Given the description of an element on the screen output the (x, y) to click on. 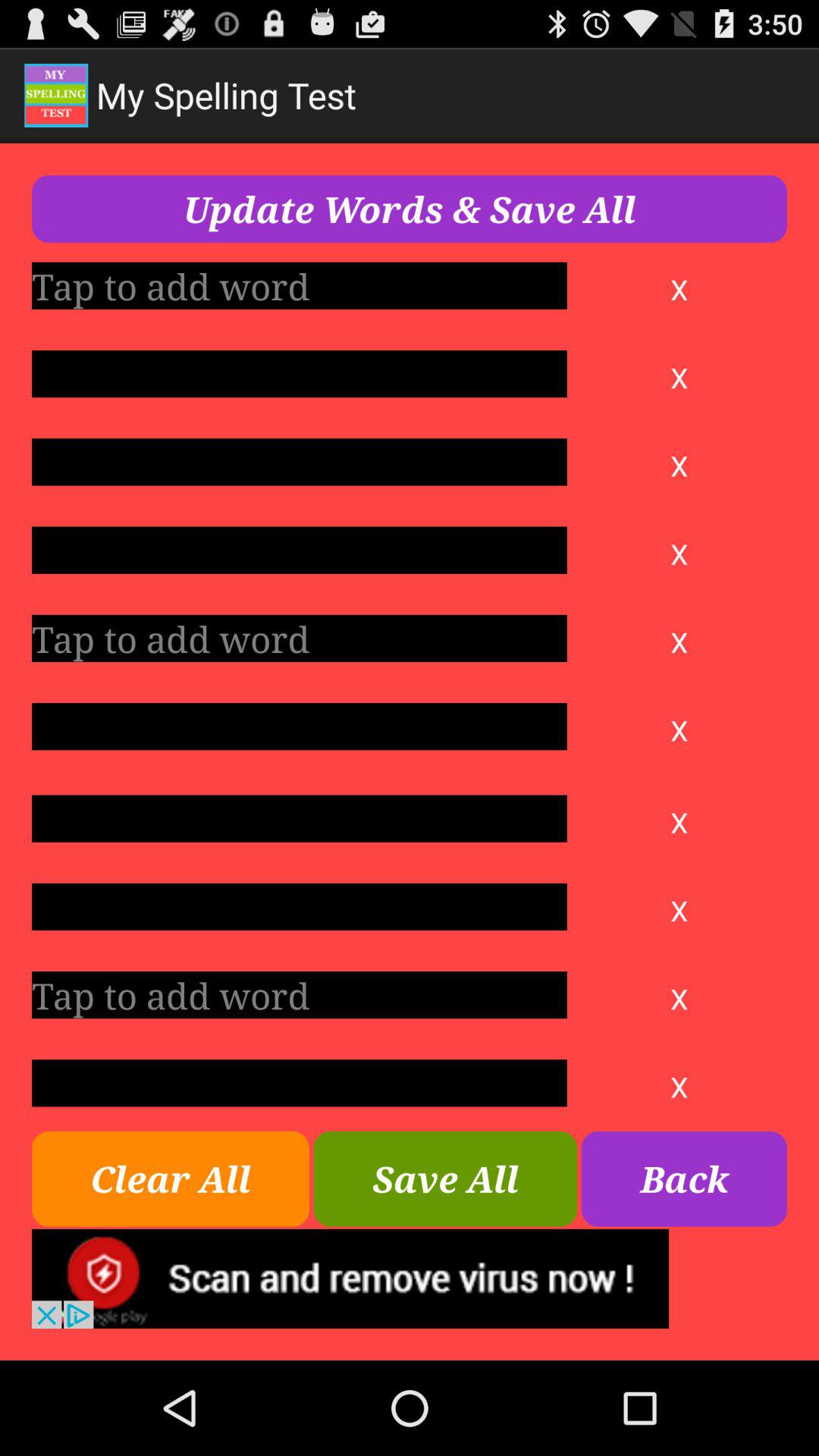
enter text (299, 1082)
